Given the description of an element on the screen output the (x, y) to click on. 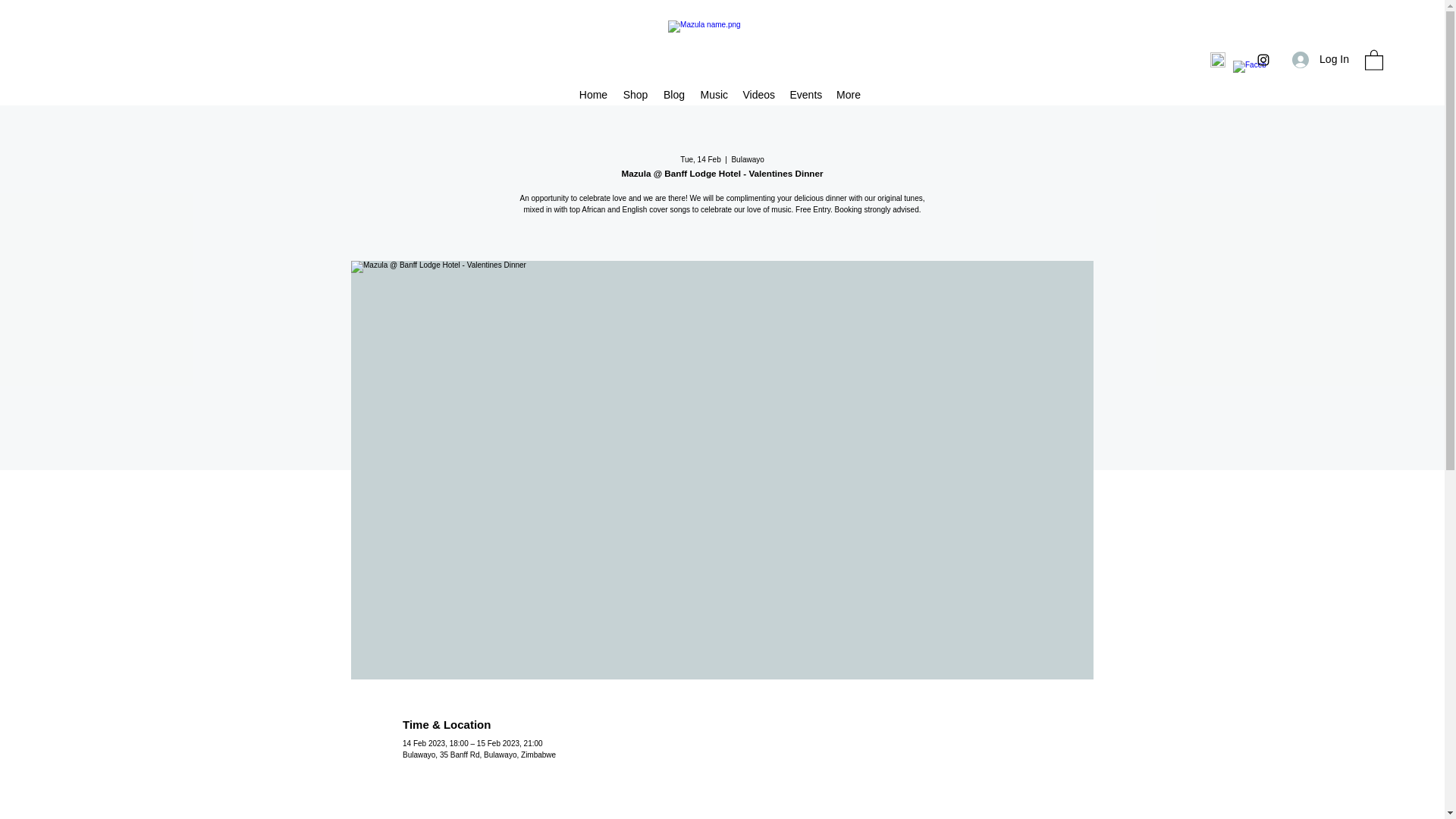
Shop (635, 95)
Events (805, 95)
Videos (759, 95)
Music (714, 95)
Log In (1320, 59)
Home (593, 95)
Blog (674, 95)
